Given the description of an element on the screen output the (x, y) to click on. 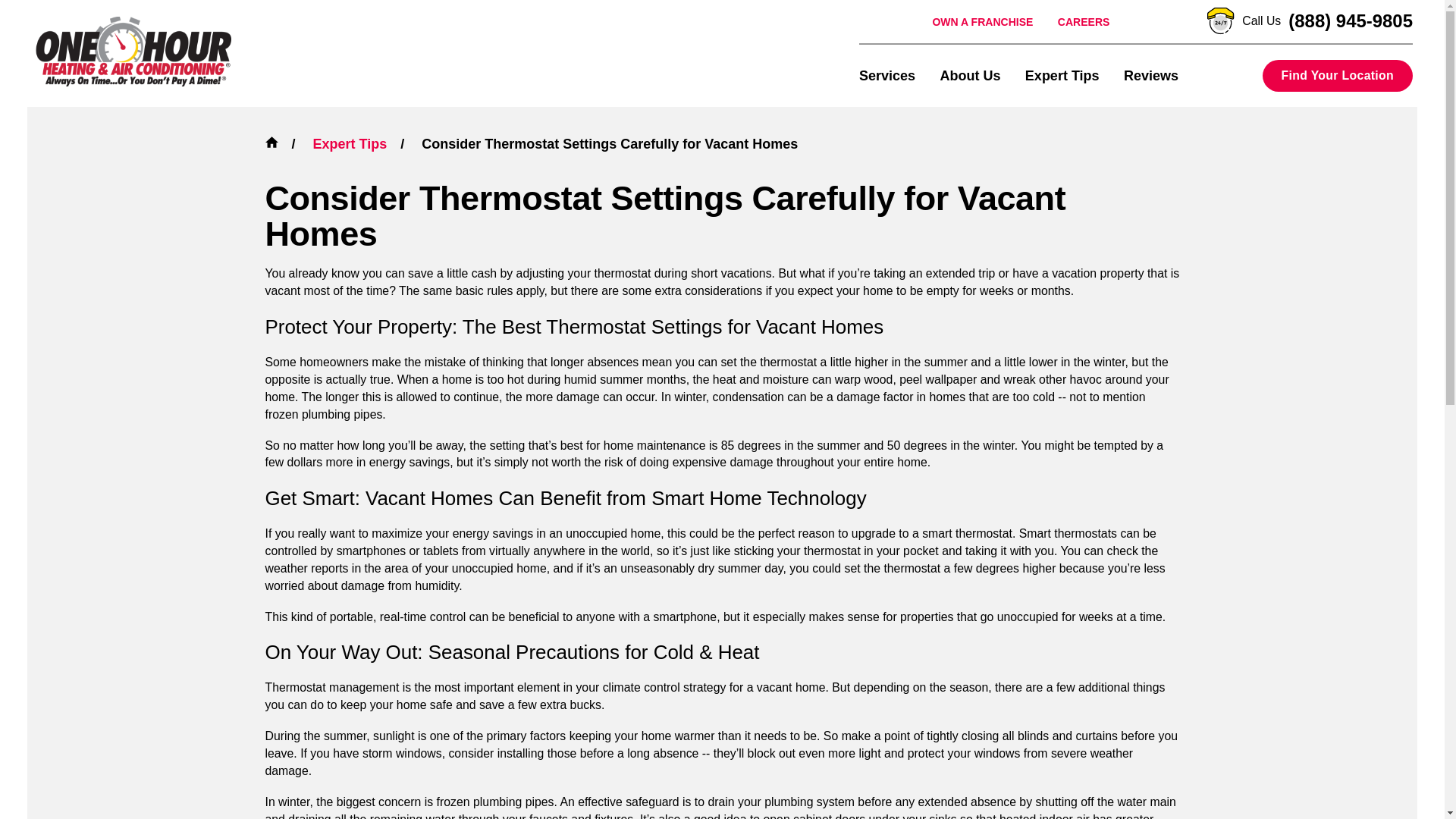
Services (887, 75)
CAREERS (1083, 21)
OWN A FRANCHISE (981, 21)
